Given the description of an element on the screen output the (x, y) to click on. 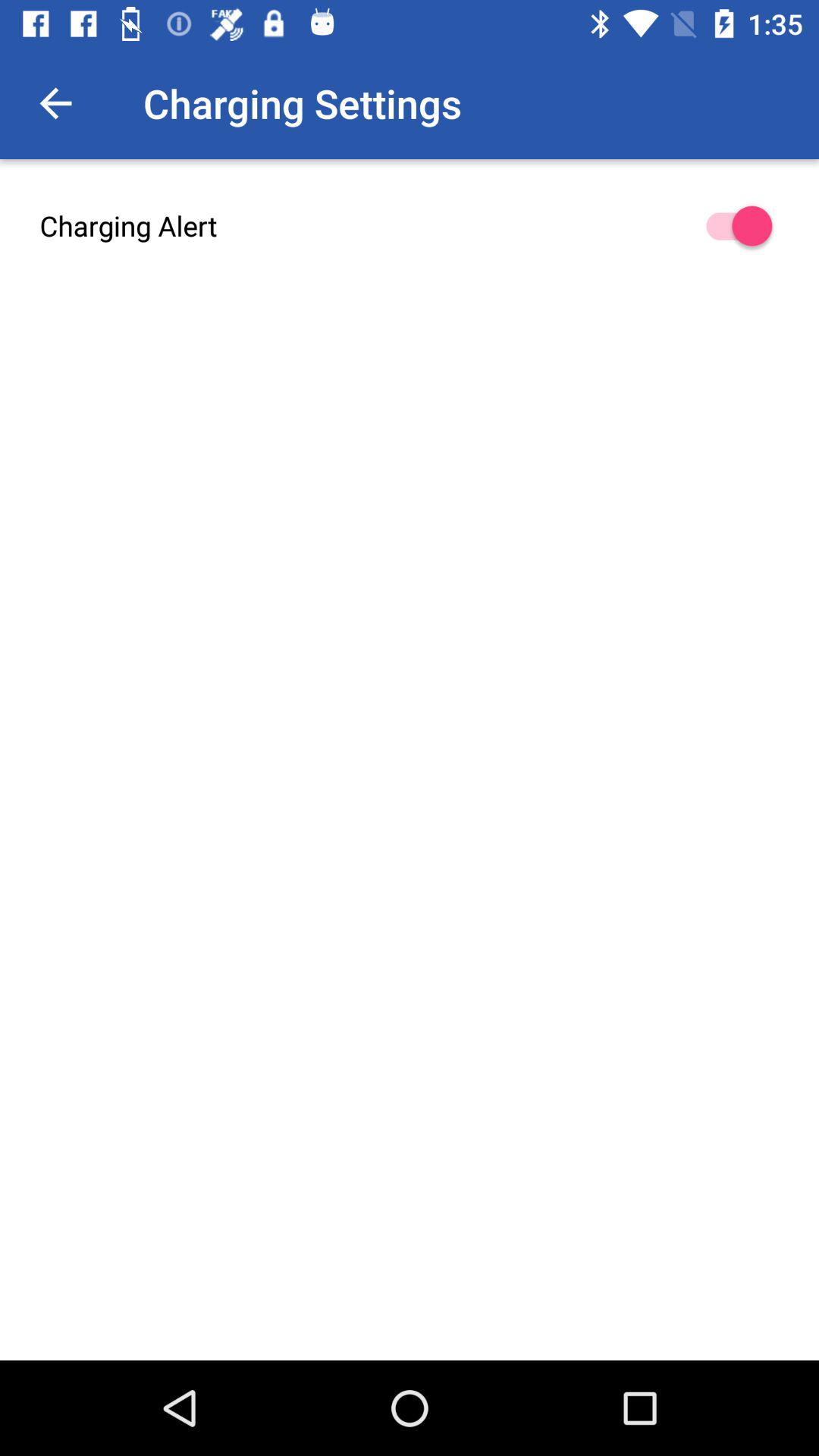
click the icon to the left of charging settings (55, 103)
